Given the description of an element on the screen output the (x, y) to click on. 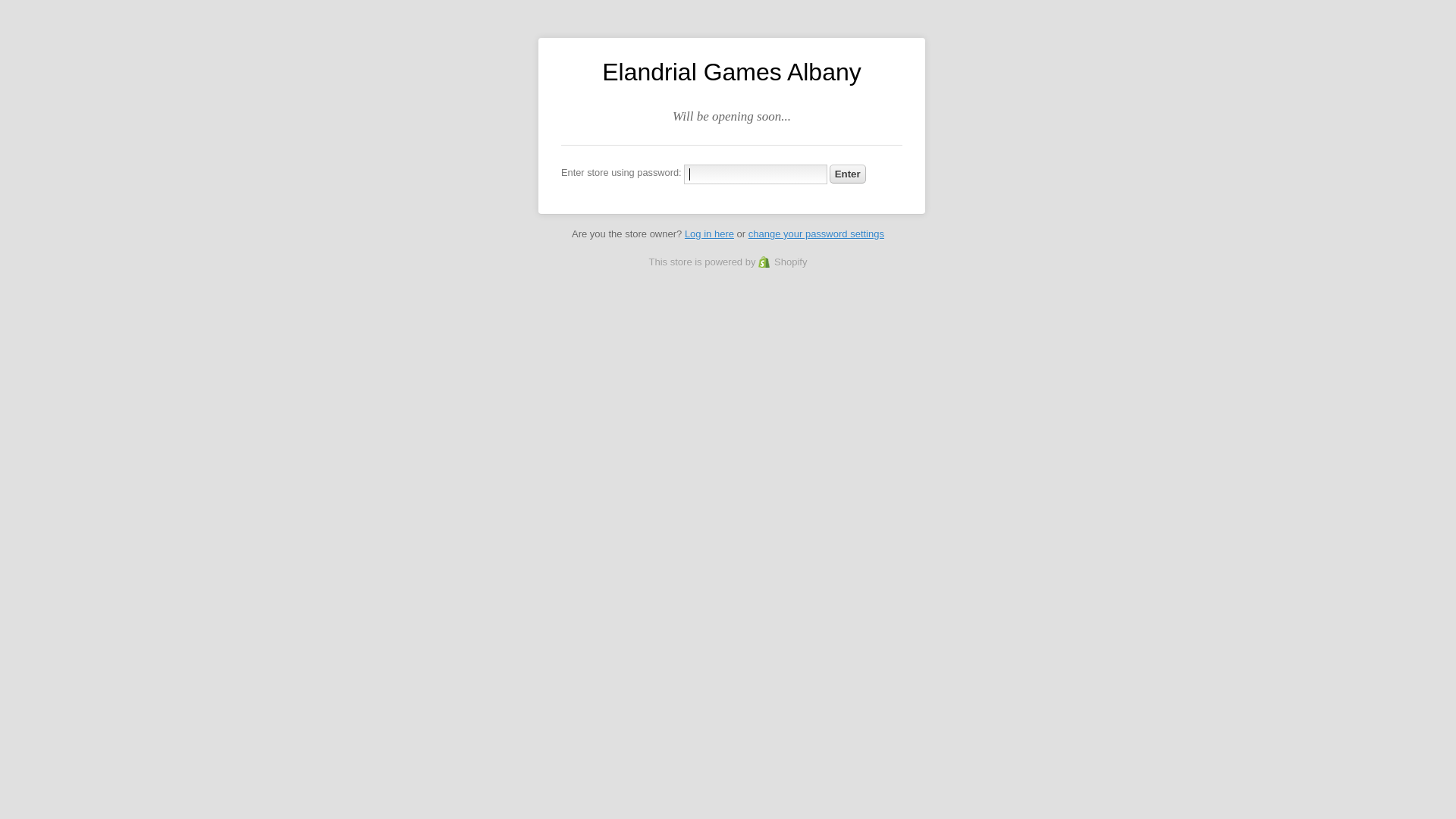
change your password settings Element type: text (816, 233)
Log in here Element type: text (709, 233)
Enter Element type: text (847, 173)
Shopify Element type: text (782, 261)
